Given the description of an element on the screen output the (x, y) to click on. 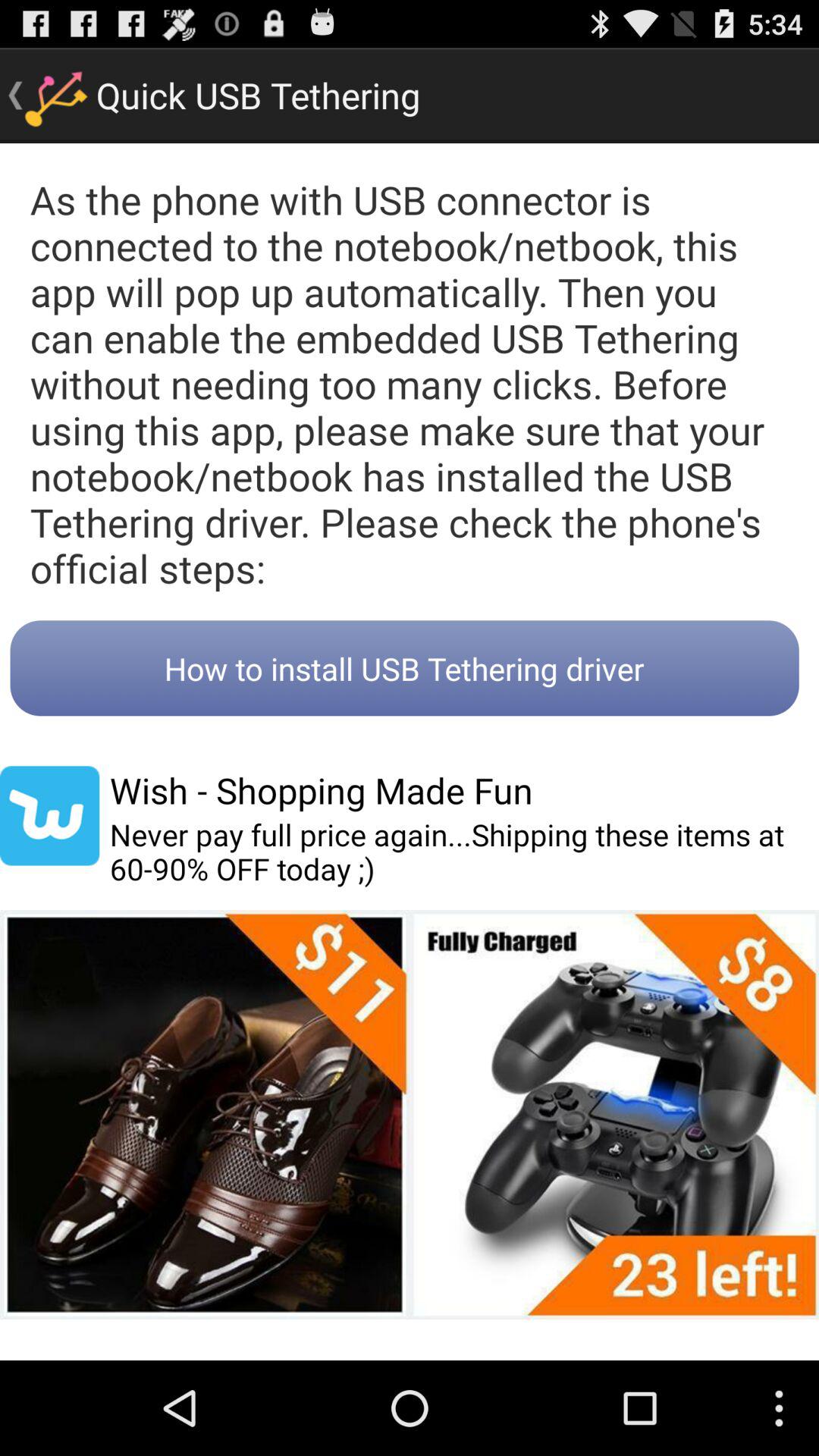
swipe until the how to install button (404, 668)
